Given the description of an element on the screen output the (x, y) to click on. 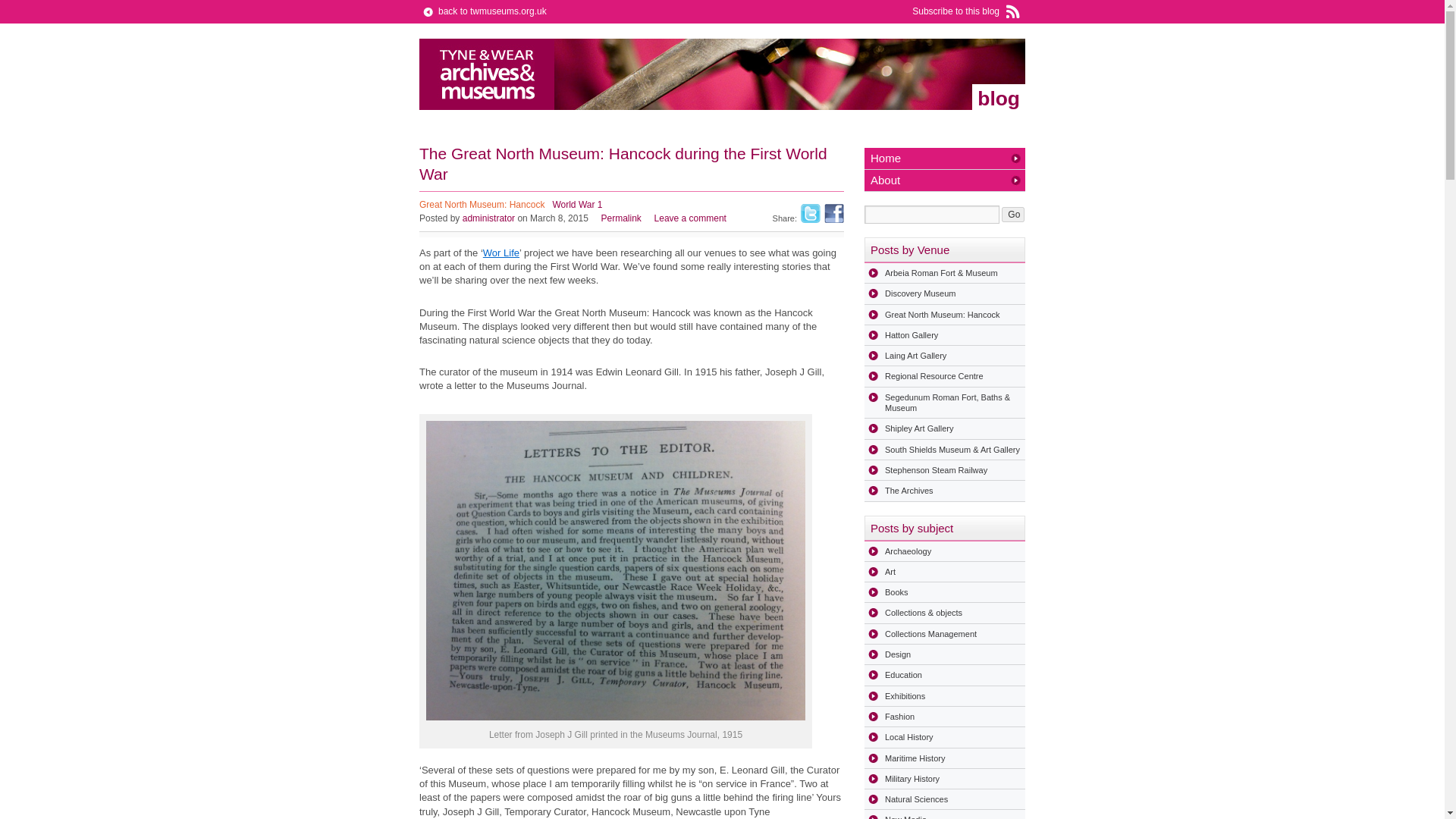
Exhibitions (944, 695)
Collections Management (944, 633)
Laing Art Gallery (944, 355)
Shipley Art Gallery (944, 428)
back to twmuseums.org.uk (483, 10)
World War 1 (576, 204)
The Great North Museum: Hancock during the First World War (621, 217)
The Great North Museum: Hancock during the First World War (623, 163)
The Great North Museum: Hancock during the First World War (623, 163)
Local History (944, 736)
Hatton Gallery (944, 334)
Facebook (834, 212)
Great North Museum: Hancock (481, 204)
Art (944, 571)
About (944, 179)
